Given the description of an element on the screen output the (x, y) to click on. 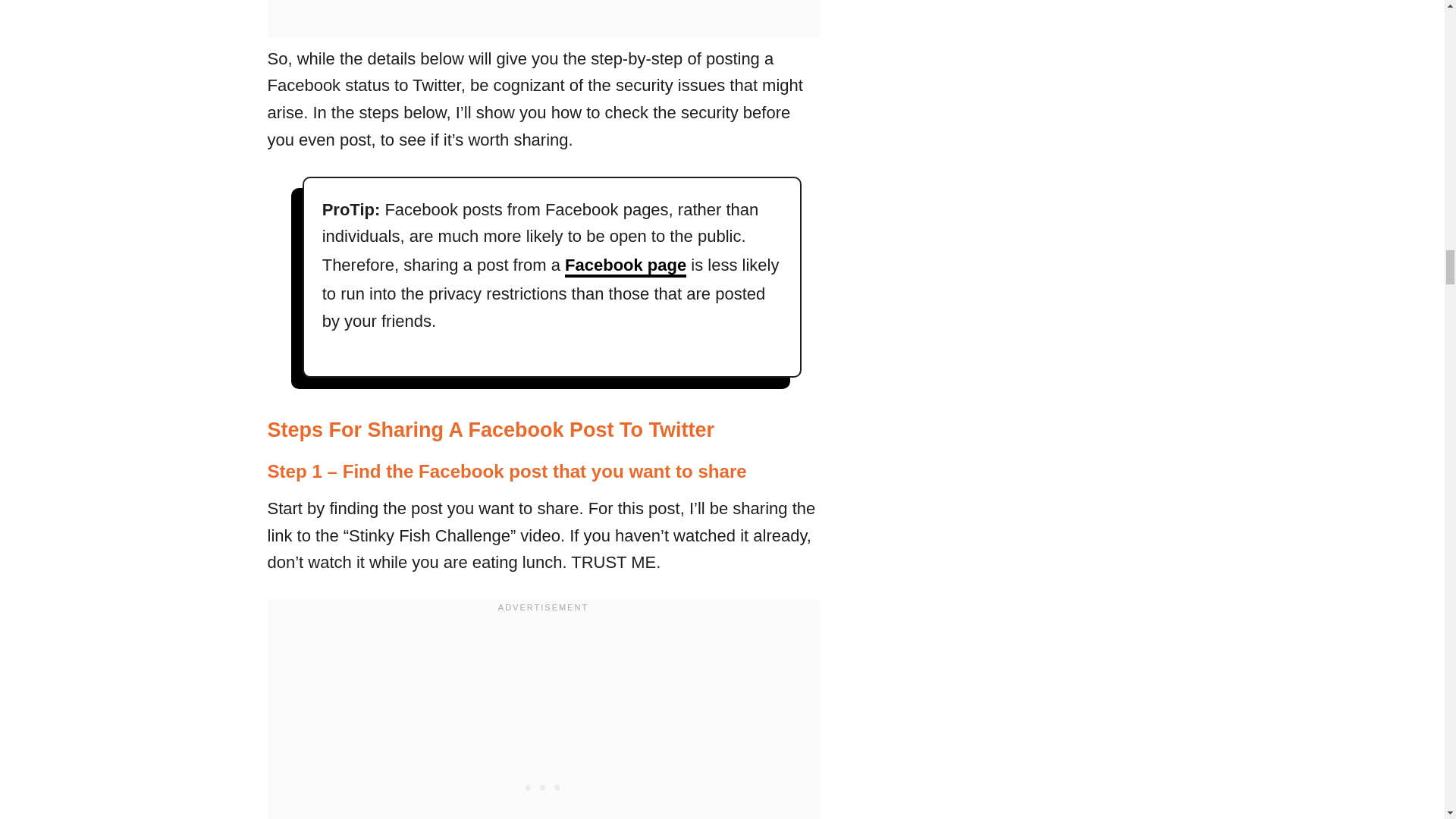
Facebook page (624, 266)
